Given the description of an element on the screen output the (x, y) to click on. 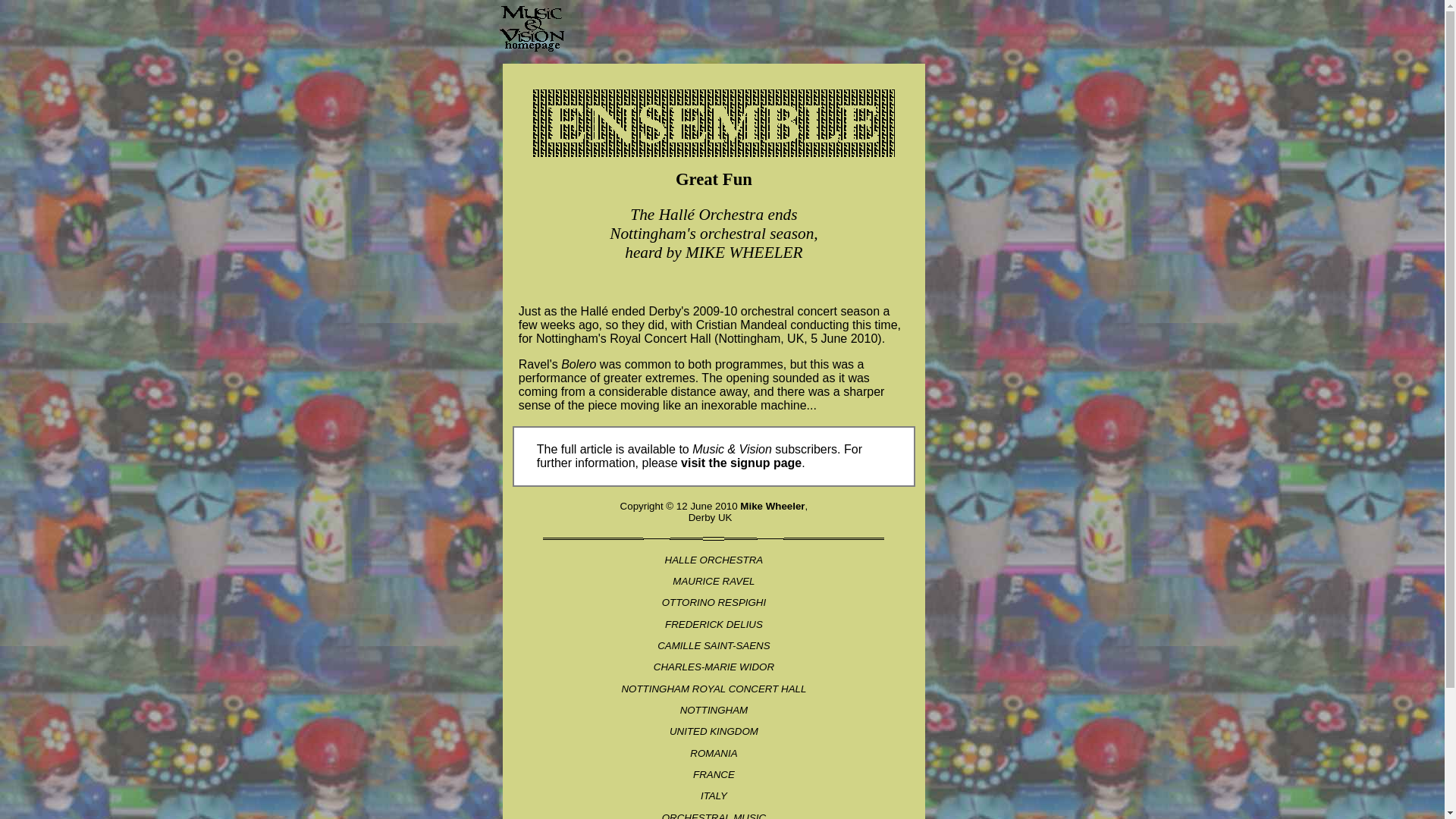
Nottingham (566, 338)
ORCHESTRAL MUSIC (714, 815)
NOTTINGHAM ROYAL CONCERT HALL (713, 688)
performance (552, 377)
FRANCE (714, 774)
NOTTINGHAM (713, 709)
MAURICE RAVEL (713, 581)
UNITED KINGDOM (713, 731)
CHARLES-MARIE WIDOR (713, 666)
FREDERICK DELIUS (713, 624)
